Given the description of an element on the screen output the (x, y) to click on. 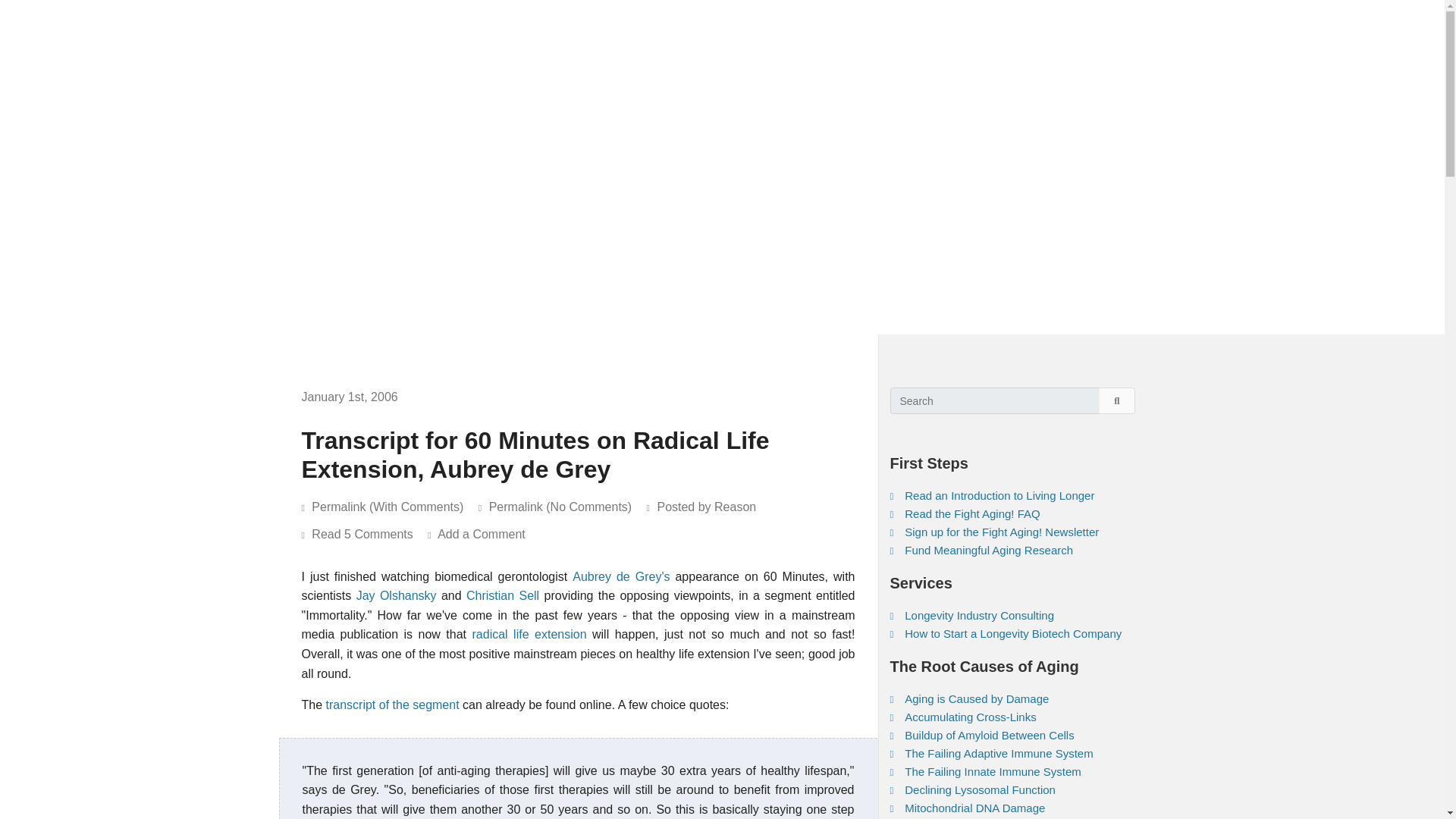
Christian Sell (501, 594)
THERAPIES (694, 26)
RESOURCES (1044, 26)
Read 5 Comments (369, 533)
PRESS ROOM (952, 26)
FAQ (367, 26)
Add a Comment (487, 533)
NEWSLETTER (783, 26)
HOME (324, 26)
Aubrey de Grey's (620, 576)
